Given the description of an element on the screen output the (x, y) to click on. 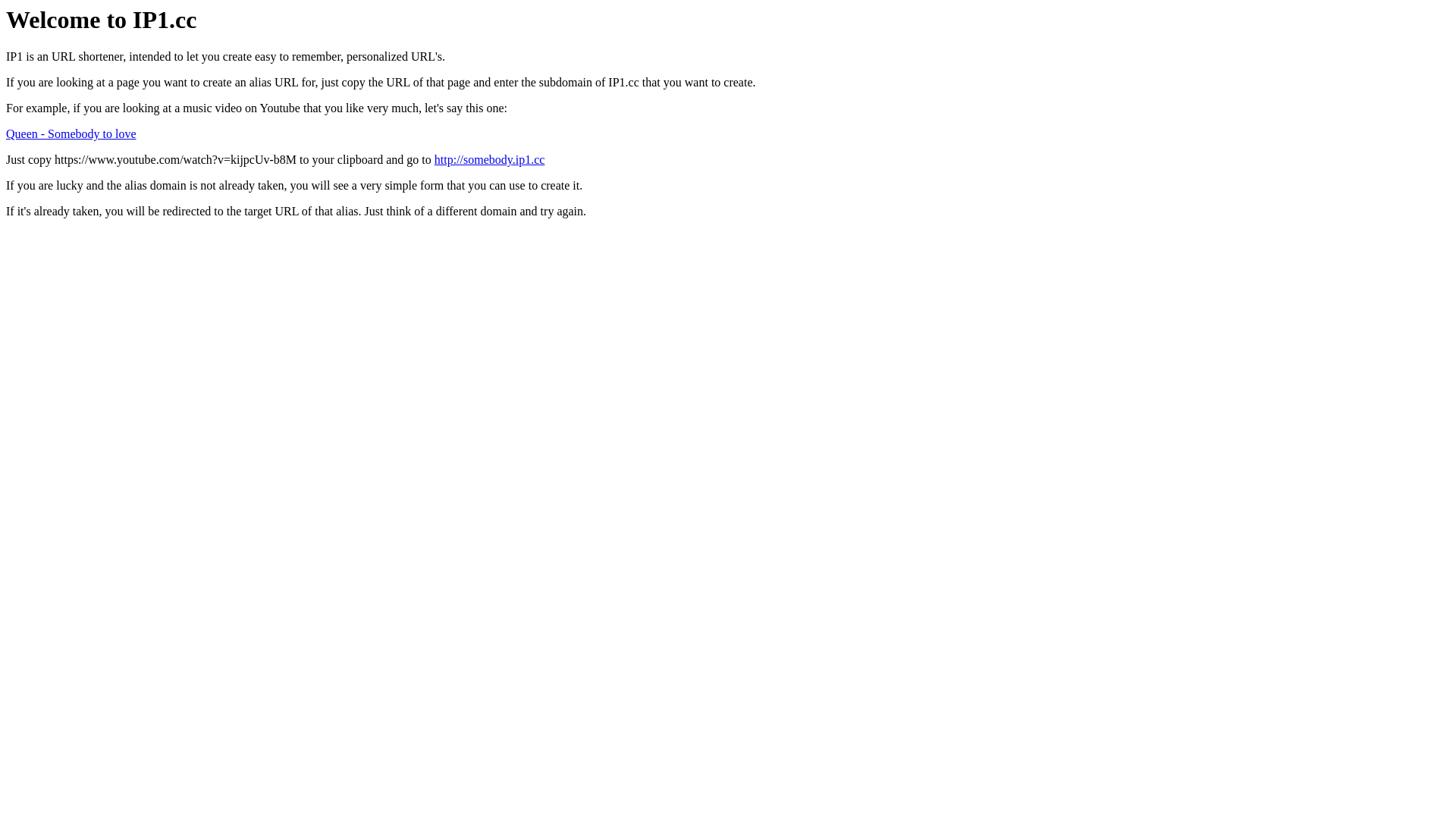
Queen - Somebody to love Element type: text (71, 133)
http://somebody.ip1.cc Element type: text (489, 159)
